Given the description of an element on the screen output the (x, y) to click on. 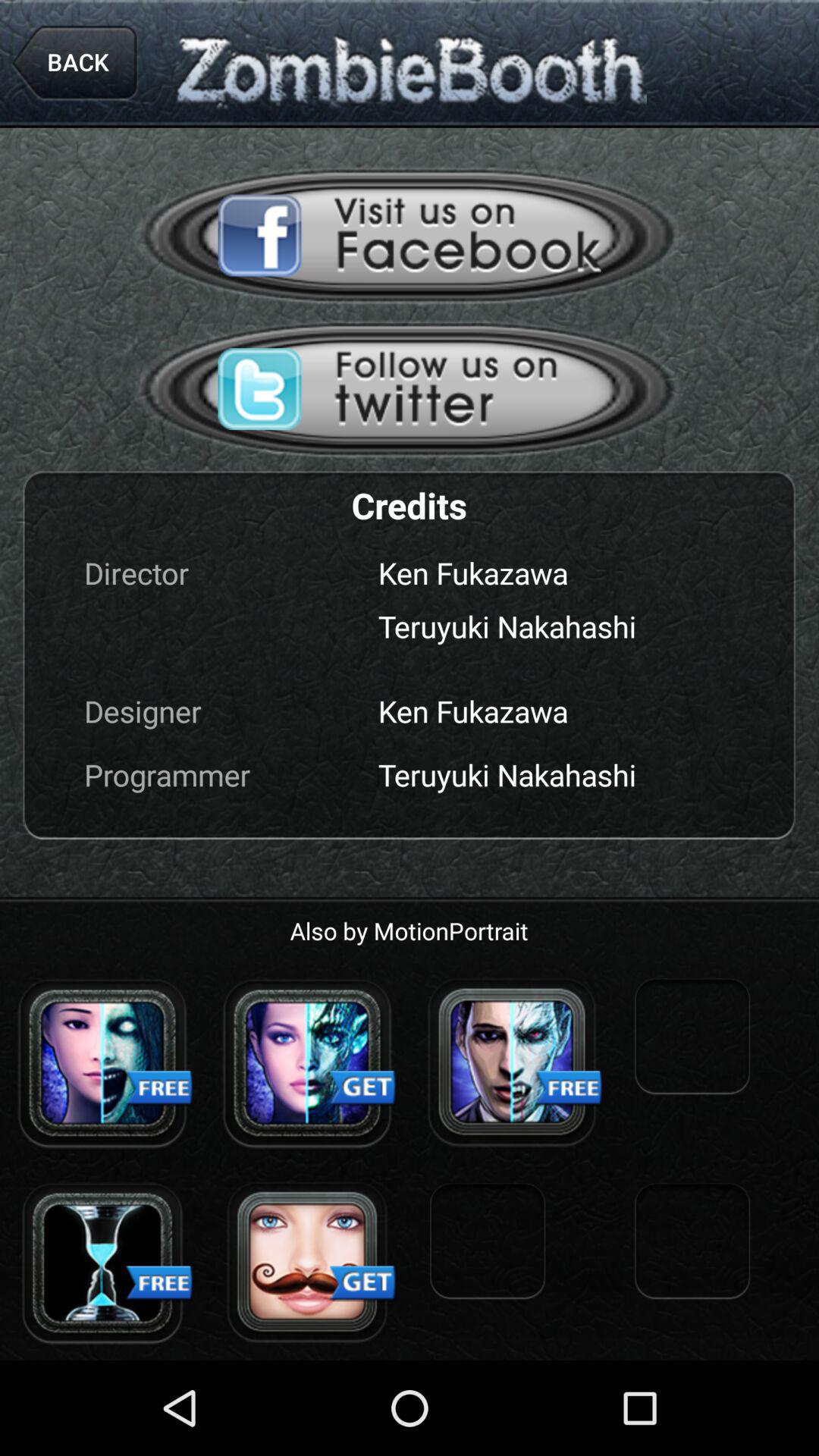
choose zombie profile (306, 1062)
